Given the description of an element on the screen output the (x, y) to click on. 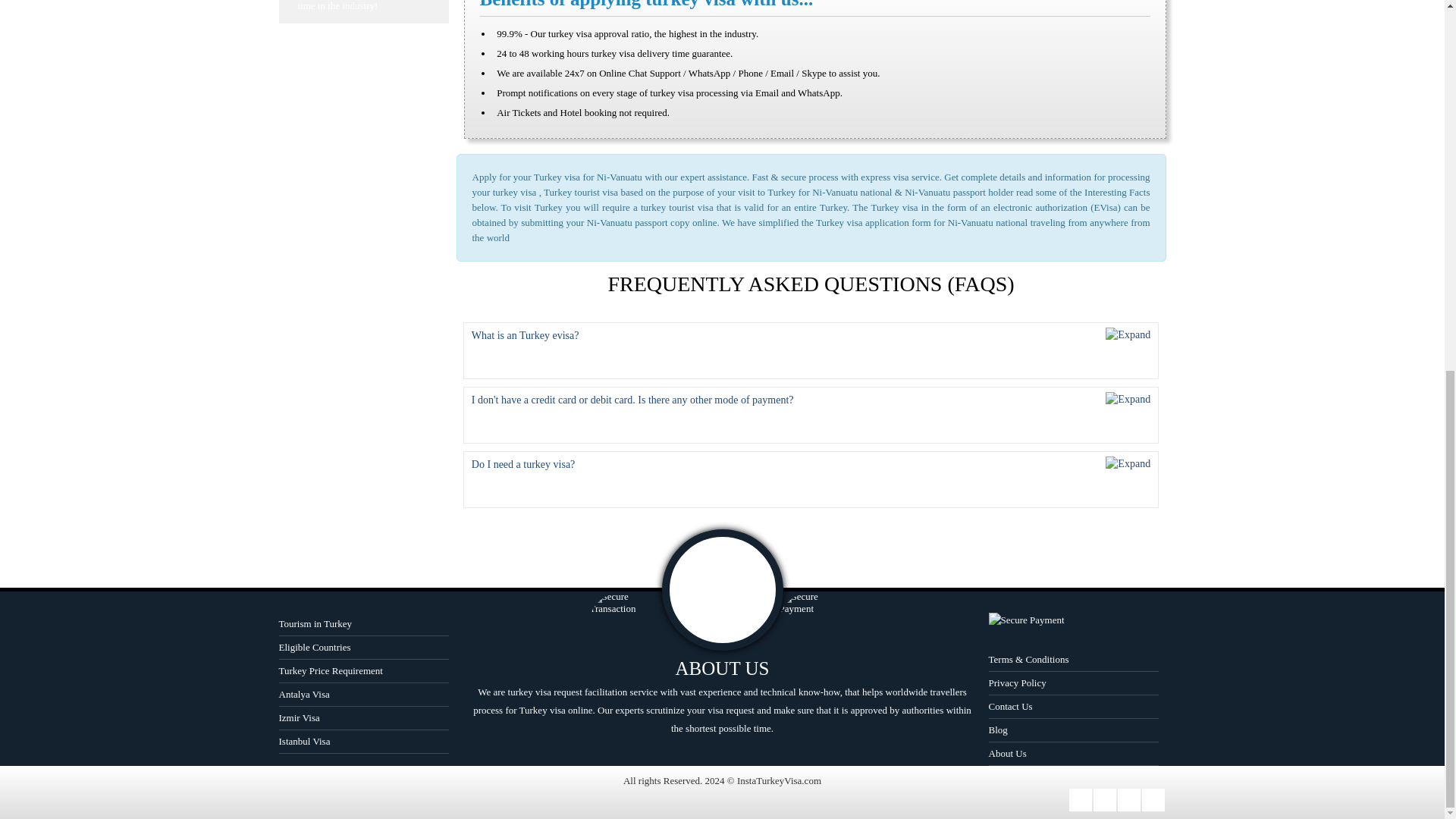
Tourism in Turkey (363, 624)
Secure Transaction (627, 620)
Izmir Visa (363, 718)
Insta Turkey Visa (721, 589)
Privacy Policy (1073, 683)
Secure Payment (1075, 622)
Antalya Visa (363, 694)
What is an Turkey evisa? (810, 350)
Blog (1073, 730)
Secure Payment (817, 620)
